Given the description of an element on the screen output the (x, y) to click on. 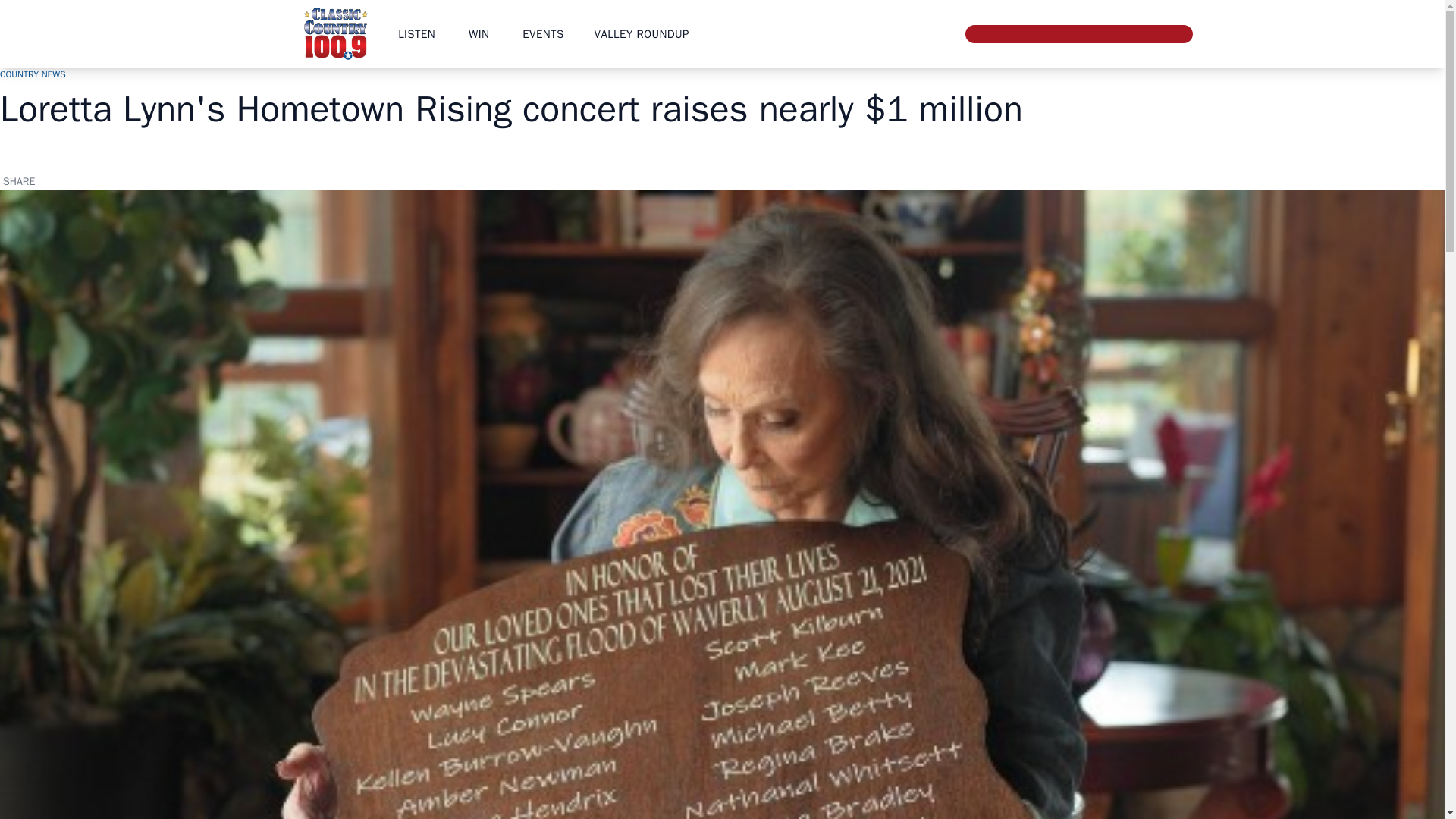
Classic Country 100.9 (335, 33)
VALLEY ROUNDUP (641, 33)
